Given the description of an element on the screen output the (x, y) to click on. 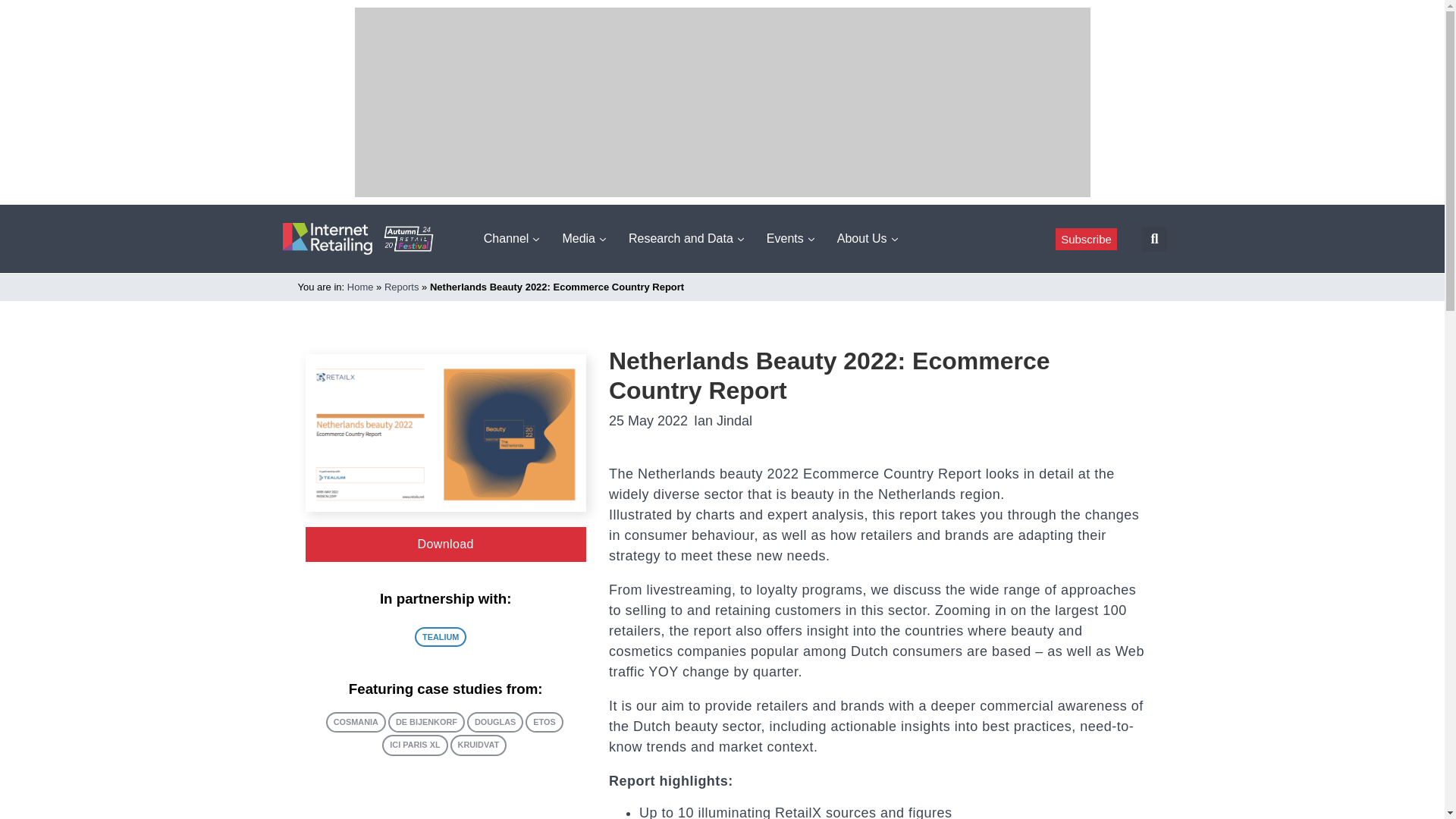
Reports (401, 286)
Research and Data (686, 238)
Home (360, 286)
Media (583, 238)
Channel (511, 238)
